Given the description of an element on the screen output the (x, y) to click on. 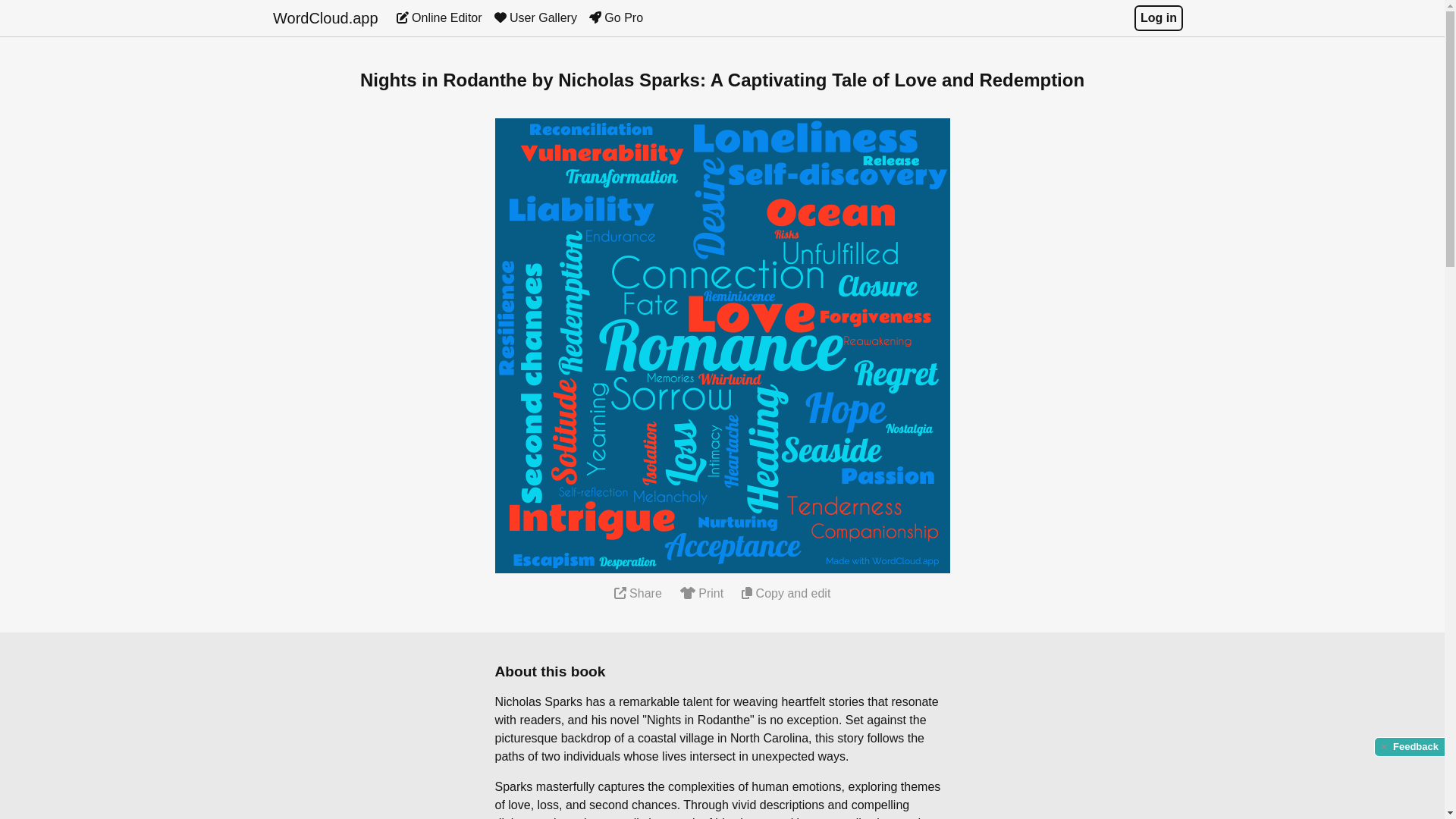
Online Editor (438, 17)
Home (325, 17)
Go Pro (616, 17)
Share (638, 593)
Explore User-Created Word Clouds (535, 17)
Log in (1158, 17)
User Gallery (535, 17)
Print (701, 593)
Copy and edit (785, 593)
Dashboard (438, 17)
